Given the description of an element on the screen output the (x, y) to click on. 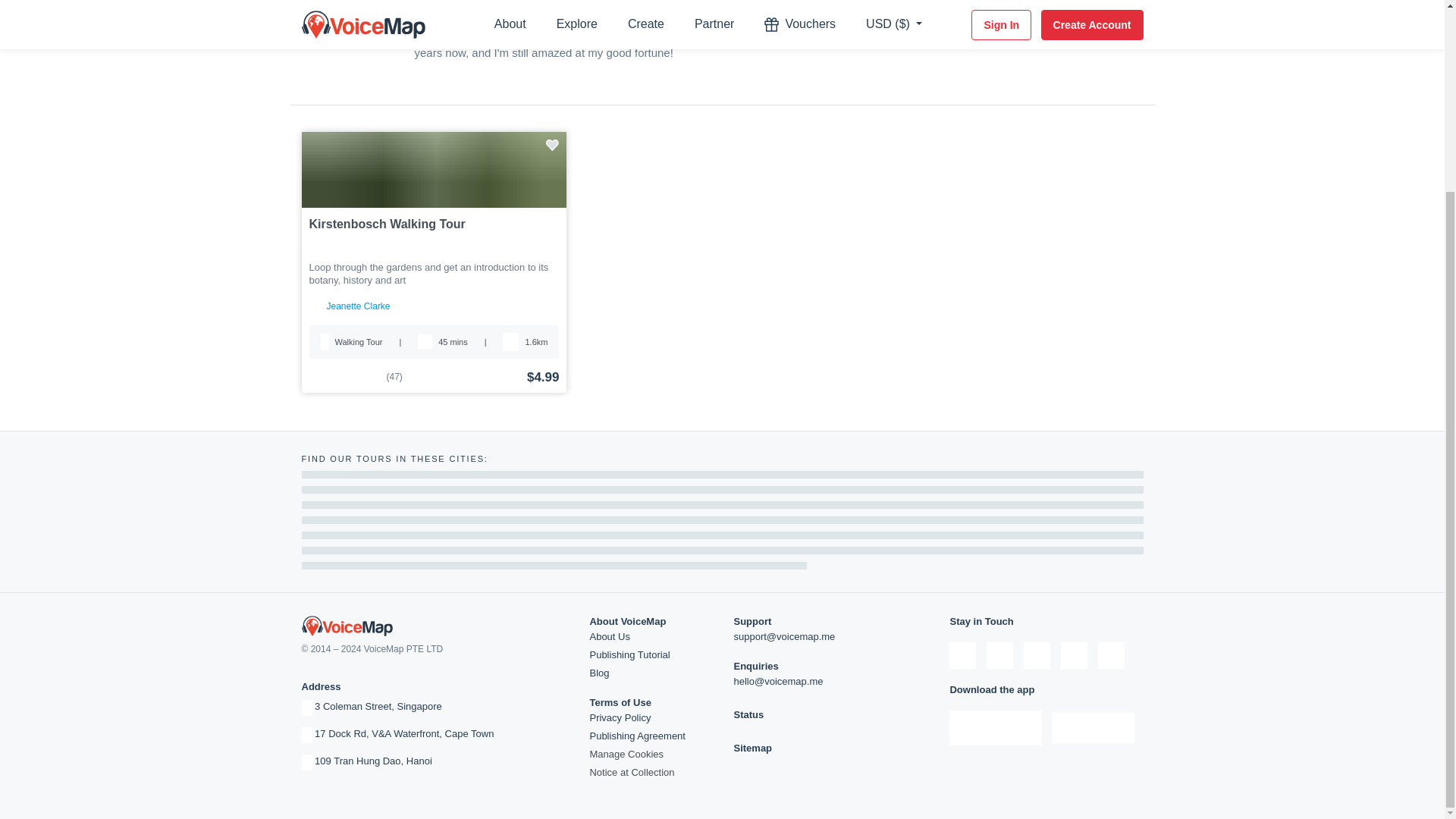
Jeanette Clarke (358, 306)
About Us (608, 636)
Blog (598, 672)
Publishing Tutorial (629, 654)
Kirstenbosch Walking Tour (433, 224)
Notice at Collection (631, 772)
Publishing Agreement (636, 736)
Privacy Policy (619, 717)
Manage Cookies (626, 754)
